Given the description of an element on the screen output the (x, y) to click on. 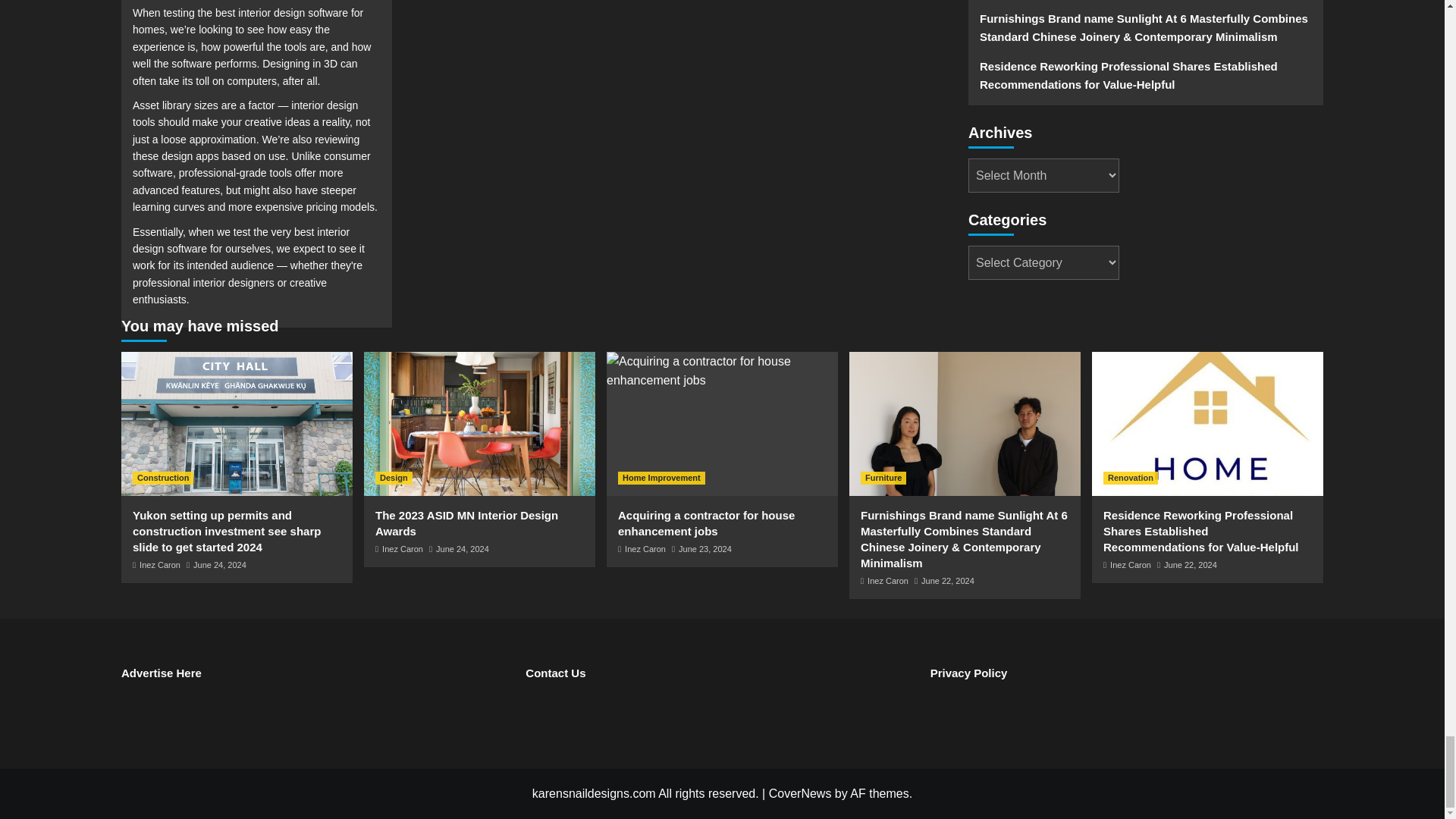
Acquiring a contractor for house enhancement jobs (722, 371)
The 2023 ASID MN Interior Design Awards (479, 424)
